Given the description of an element on the screen output the (x, y) to click on. 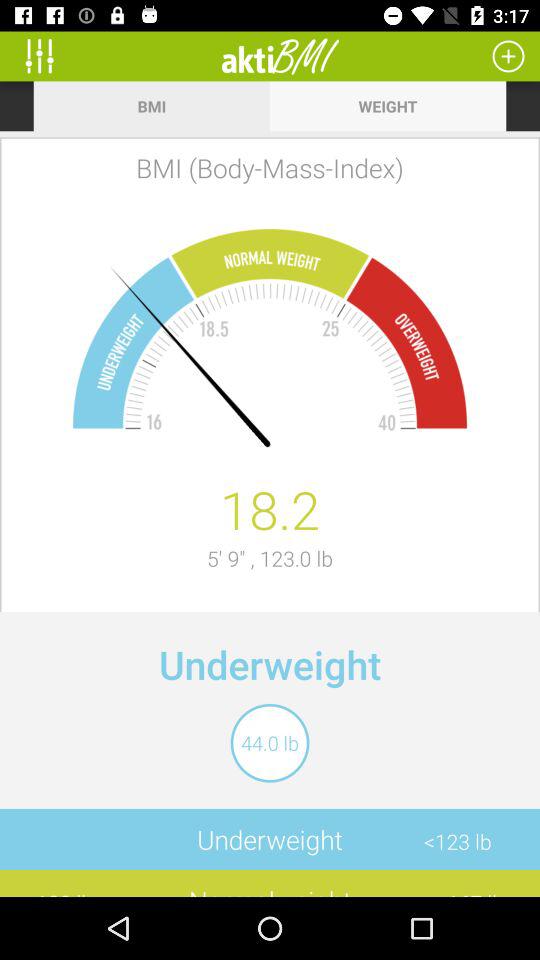
add input (508, 56)
